Given the description of an element on the screen output the (x, y) to click on. 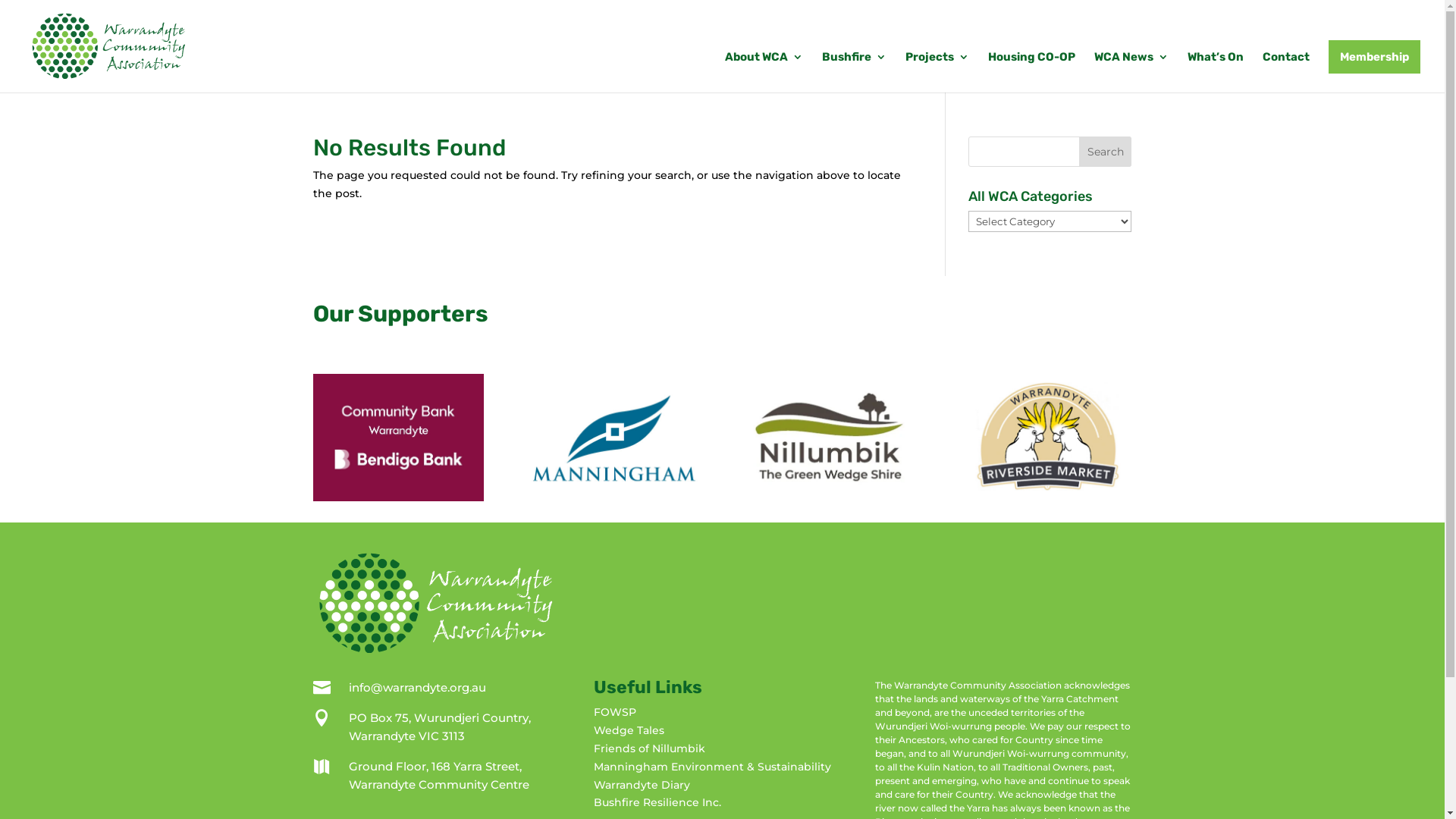
nillumbik-logo Element type: hover (829, 437)
warrandyte-market-logo Element type: hover (1045, 437)
Bendigo-bank-warrandyte Element type: hover (397, 437)
Wedge Tales Element type: text (628, 730)
Bushfire Resilience Inc. Element type: text (657, 802)
Housing CO-OP Element type: text (1031, 71)
warrandyte-community-association-logo-rev Element type: hover (435, 602)
Bushfire Element type: text (854, 71)
Manningham Environment & Sustainability Element type: text (712, 766)
Warrandyte Diary Element type: text (641, 784)
WCA News Element type: text (1131, 71)
About WCA Element type: text (763, 71)
FOWSP Element type: text (614, 711)
Membership Element type: text (1374, 56)
manningham-logo Element type: hover (613, 437)
Friends of Nillumbik Element type: text (649, 748)
Search Element type: text (1105, 151)
Projects Element type: text (937, 71)
Contact Element type: text (1285, 71)
